Given the description of an element on the screen output the (x, y) to click on. 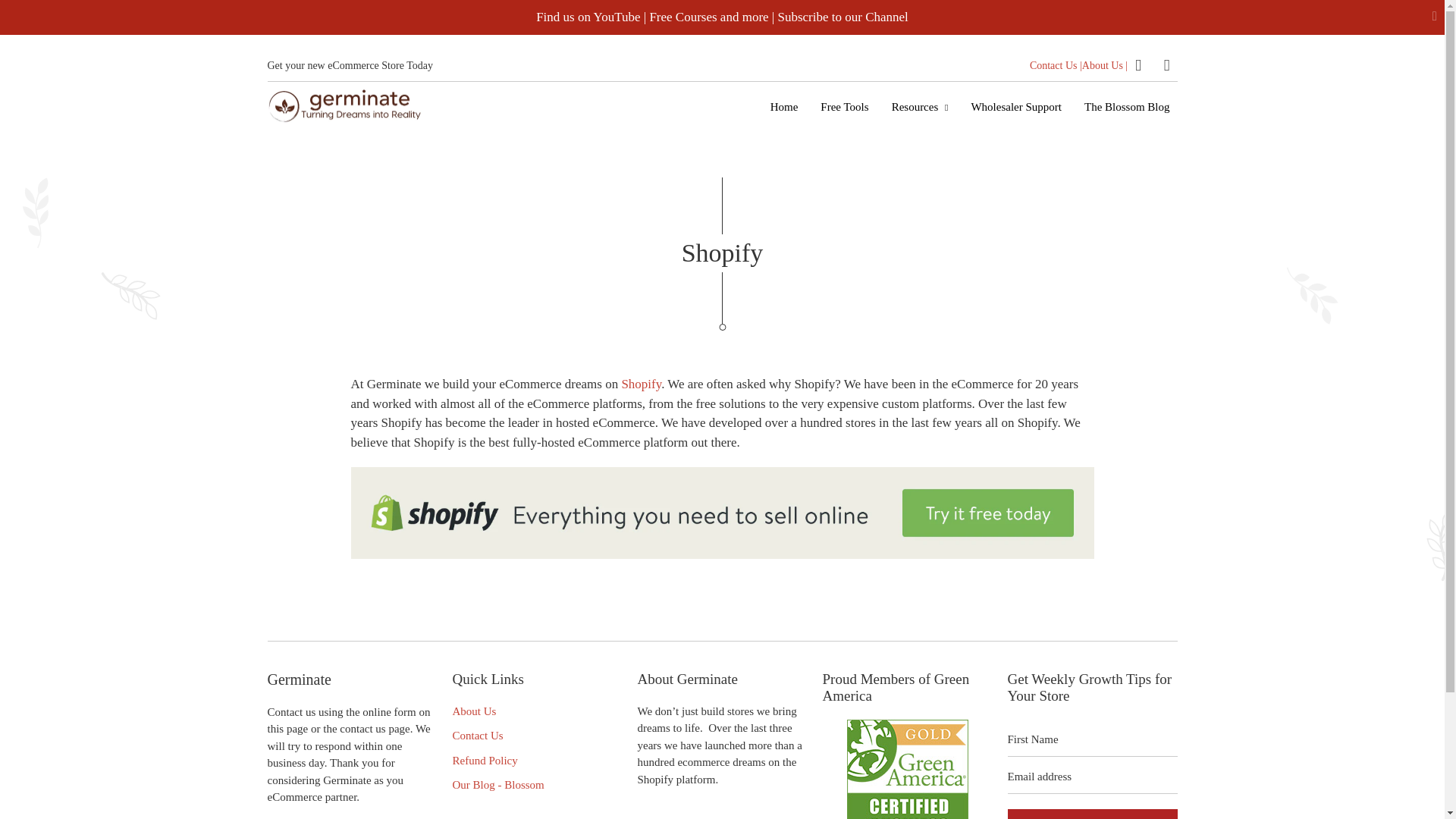
Home (784, 106)
The Blossom Blog (1127, 106)
Shopify Free Trial (721, 554)
Wholesaler Support (1015, 106)
Shopify Free Trial (641, 383)
Shopify (641, 383)
Resources (919, 106)
Free Tools (844, 106)
Sign Up (1091, 814)
About Us (473, 711)
